Given the description of an element on the screen output the (x, y) to click on. 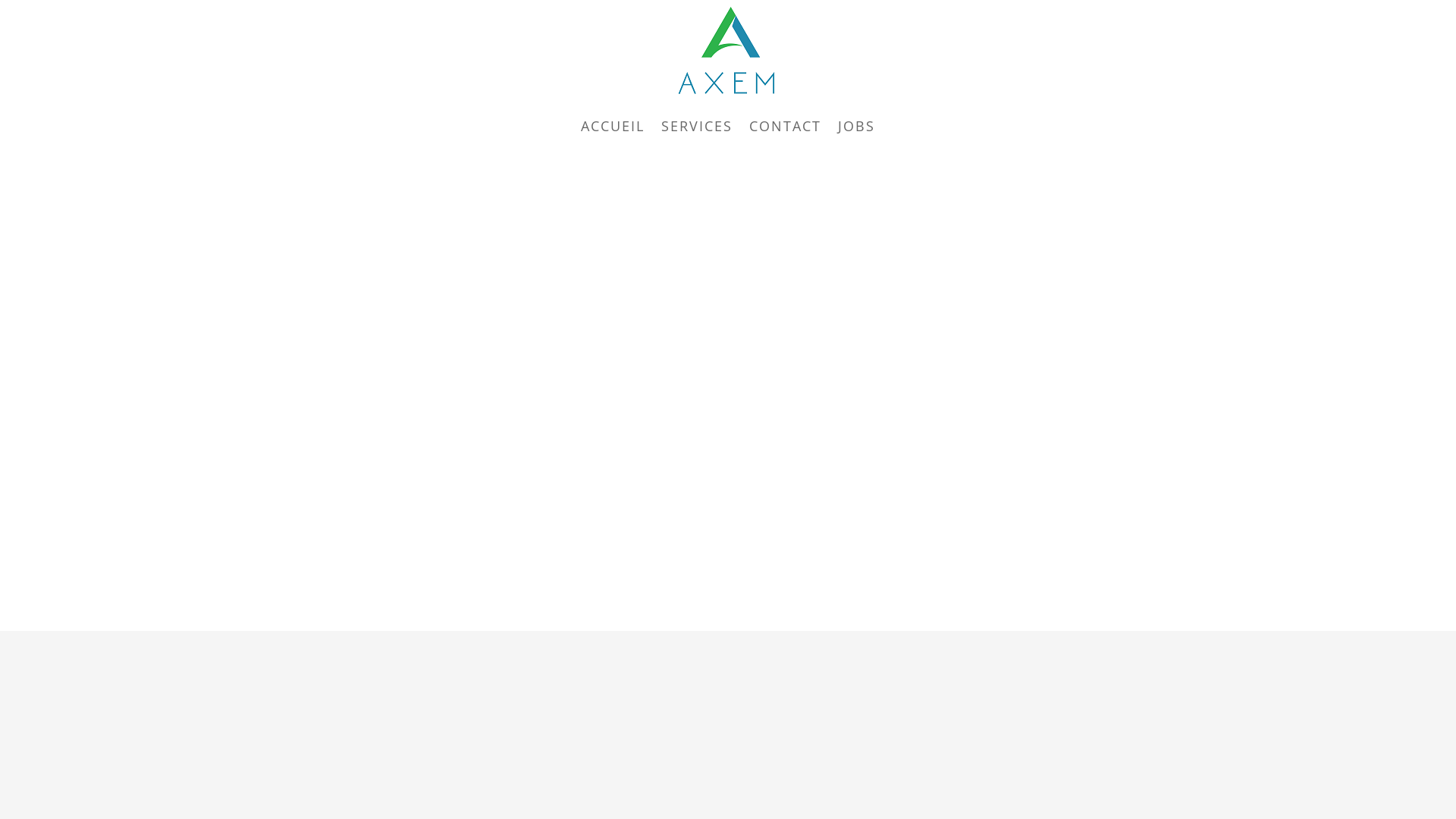
ACCUEIL Element type: text (612, 125)
CONTACT Element type: text (785, 125)
SERVICES Element type: text (696, 125)
JOBS Element type: text (856, 125)
